Given the description of an element on the screen output the (x, y) to click on. 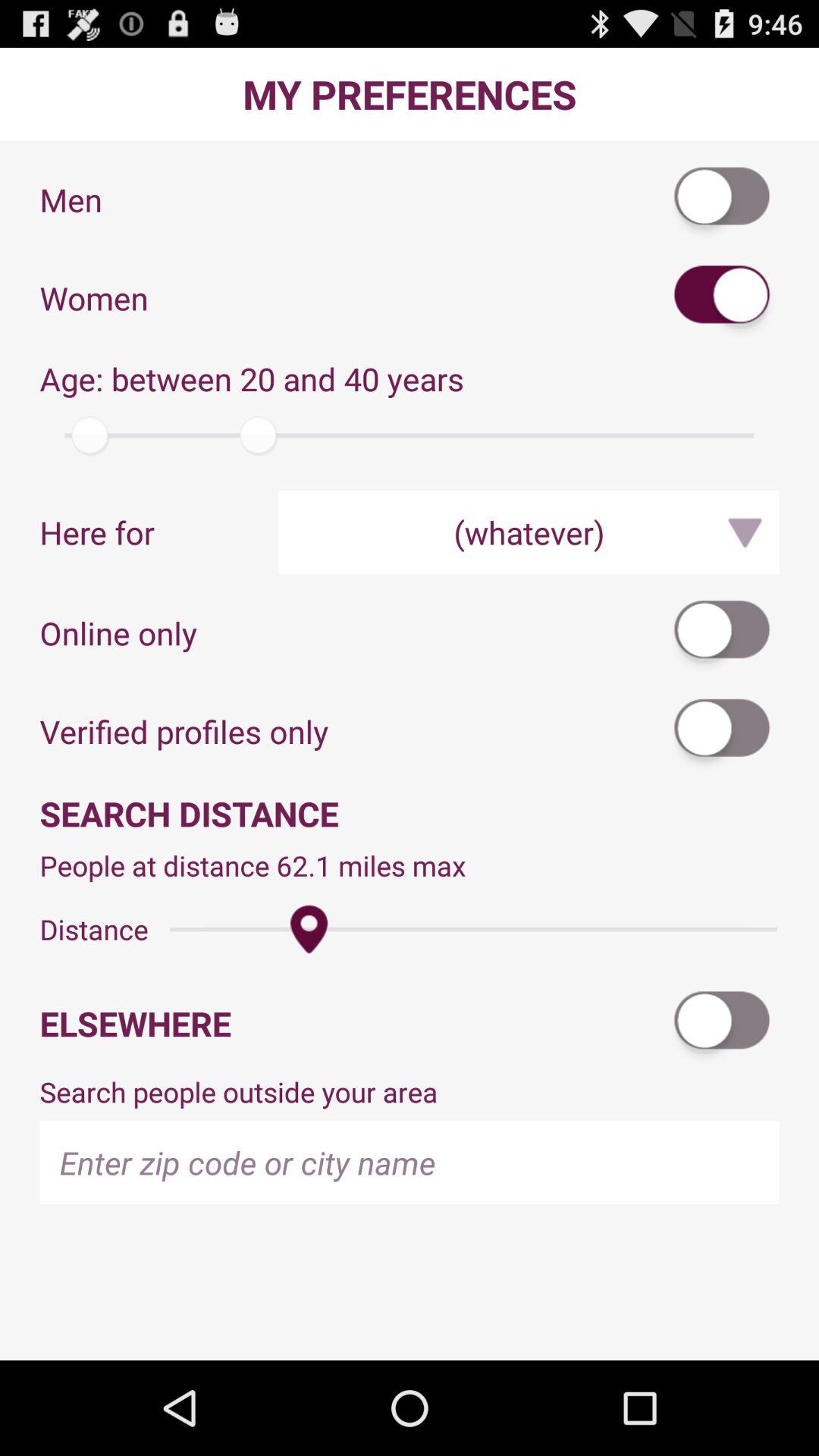
turn on app next to the verified profiles only item (722, 731)
